Given the description of an element on the screen output the (x, y) to click on. 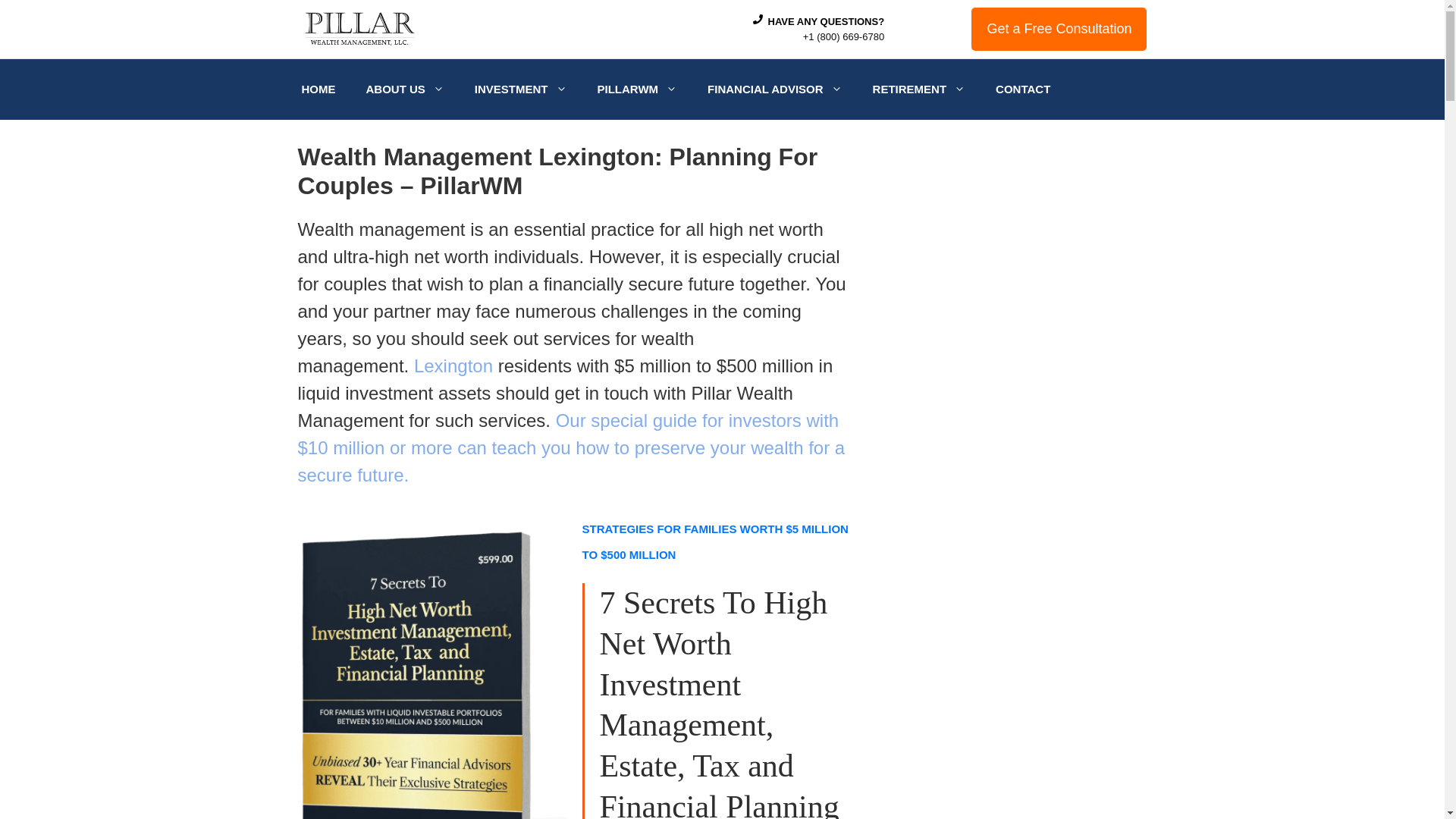
RETIREMENT (919, 89)
HOME (318, 89)
FINANCIAL ADVISOR (775, 89)
PILLARWM (637, 89)
Get a Free Consultation (1059, 28)
ABOUT US (404, 89)
INVESTMENT (521, 89)
